Given the description of an element on the screen output the (x, y) to click on. 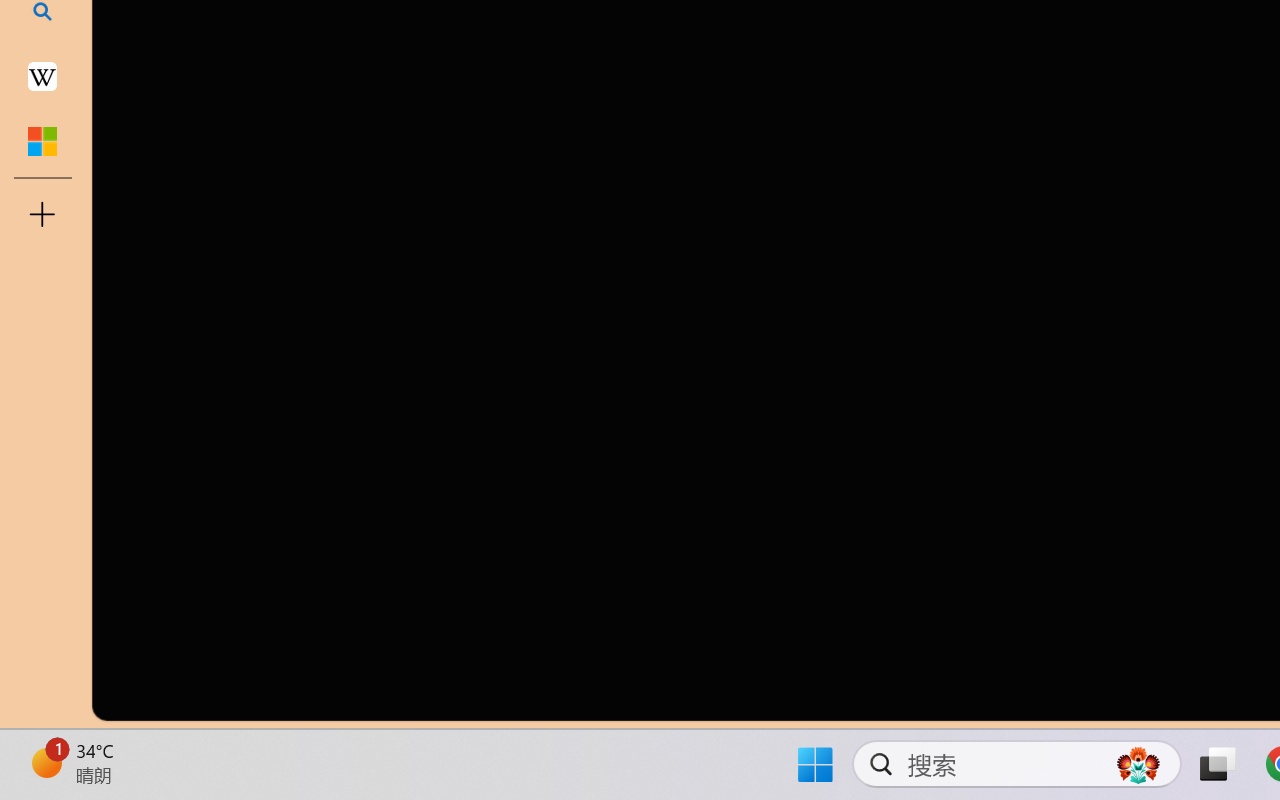
TextBox 61 (1074, 57)
Spell Check No Errors (95, 743)
Subtitle TextBox (1078, 108)
Accessibility Checker Accessibility: Investigate (395, 743)
Animation, sequence 1, on Camera 9 (1267, 141)
TextBox 7 (1069, 37)
